Given the description of an element on the screen output the (x, y) to click on. 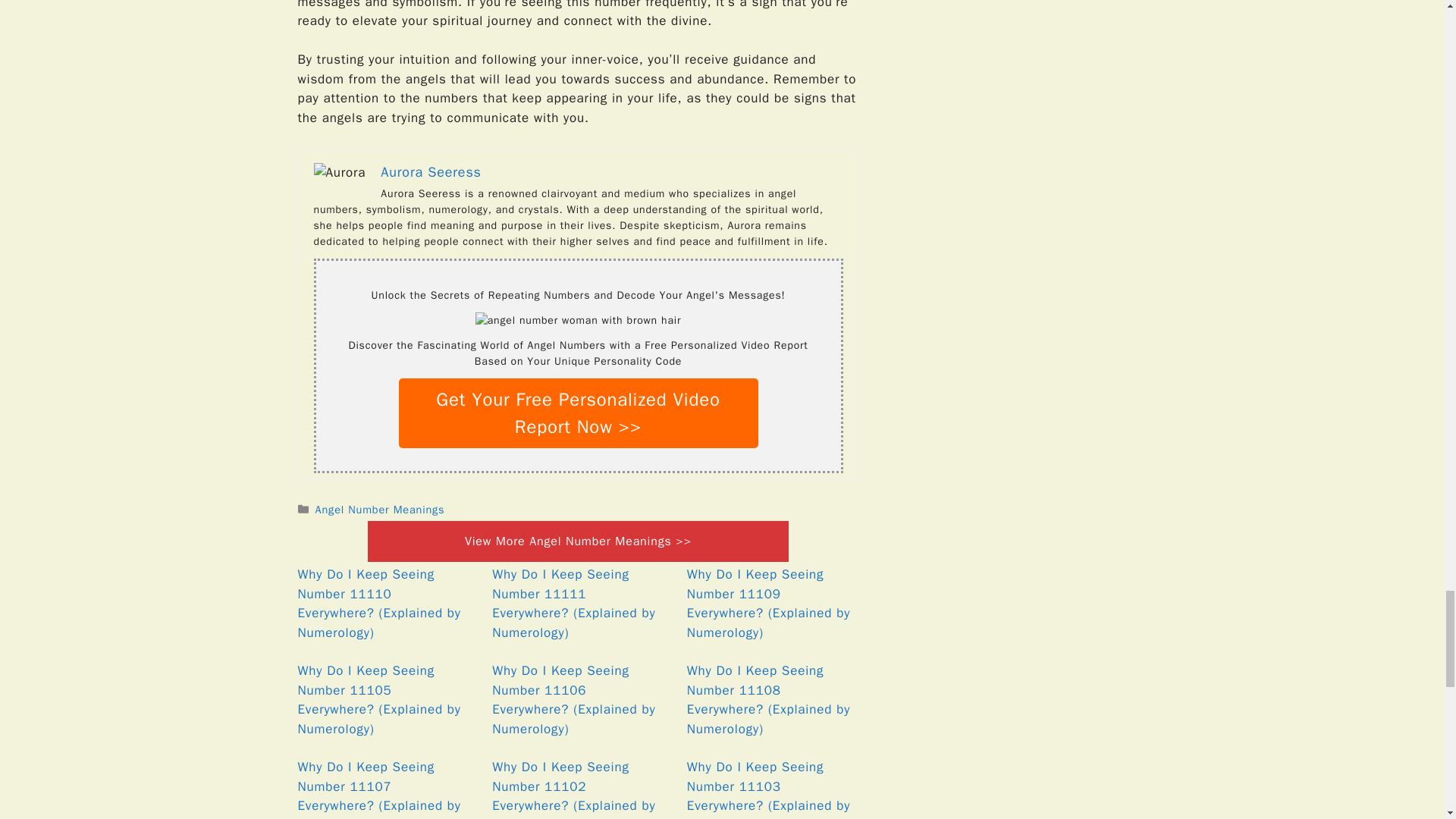
Angel Number Meanings (380, 509)
Aurora Seeress (430, 171)
